Given the description of an element on the screen output the (x, y) to click on. 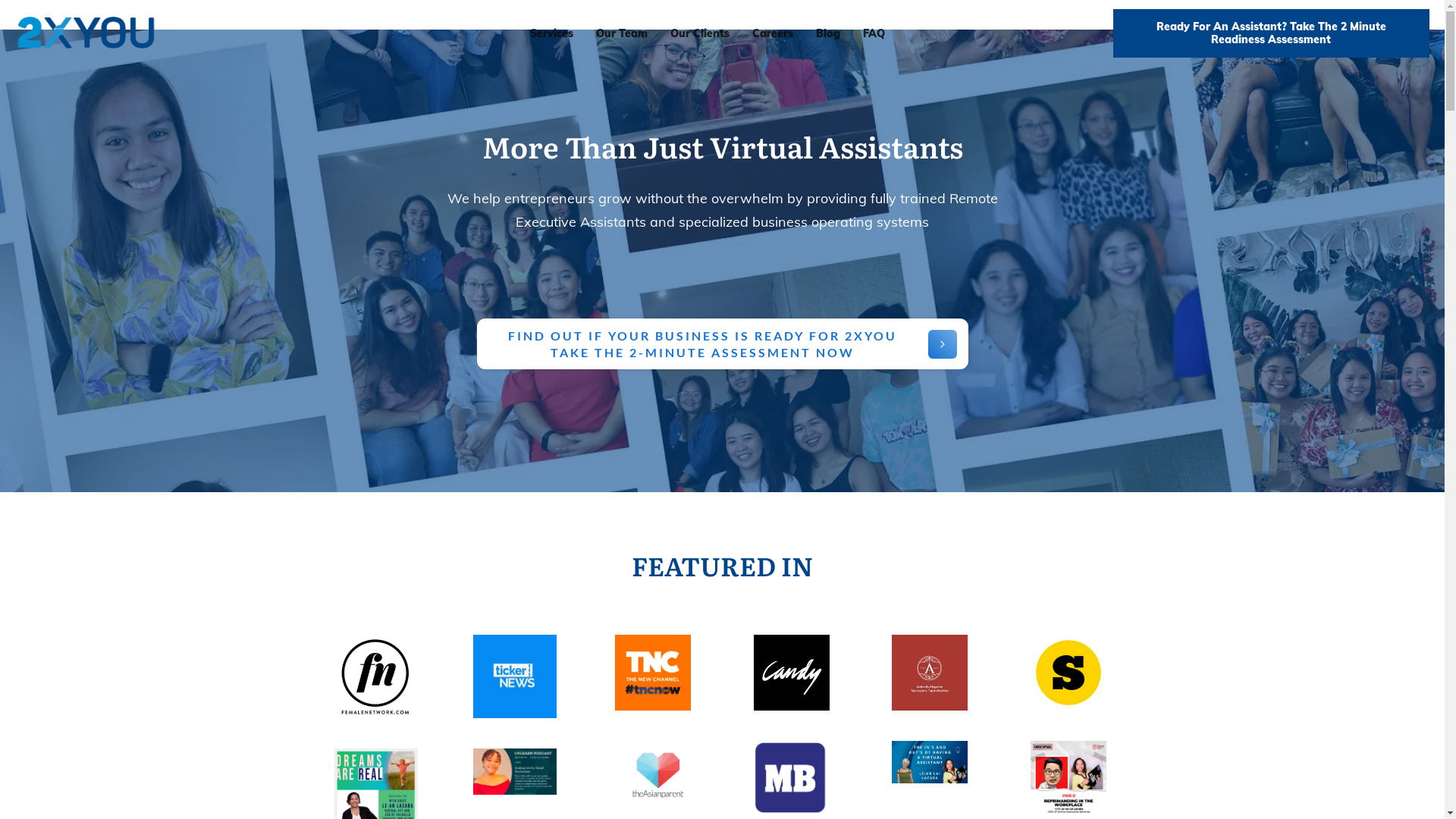
FAQ Element type: text (873, 32)
Our Team Element type: text (621, 32)
Careers Element type: text (772, 32)
Services Element type: text (551, 32)
Blog Element type: text (827, 32)
Our Clients Element type: text (699, 32)
